Given the description of an element on the screen output the (x, y) to click on. 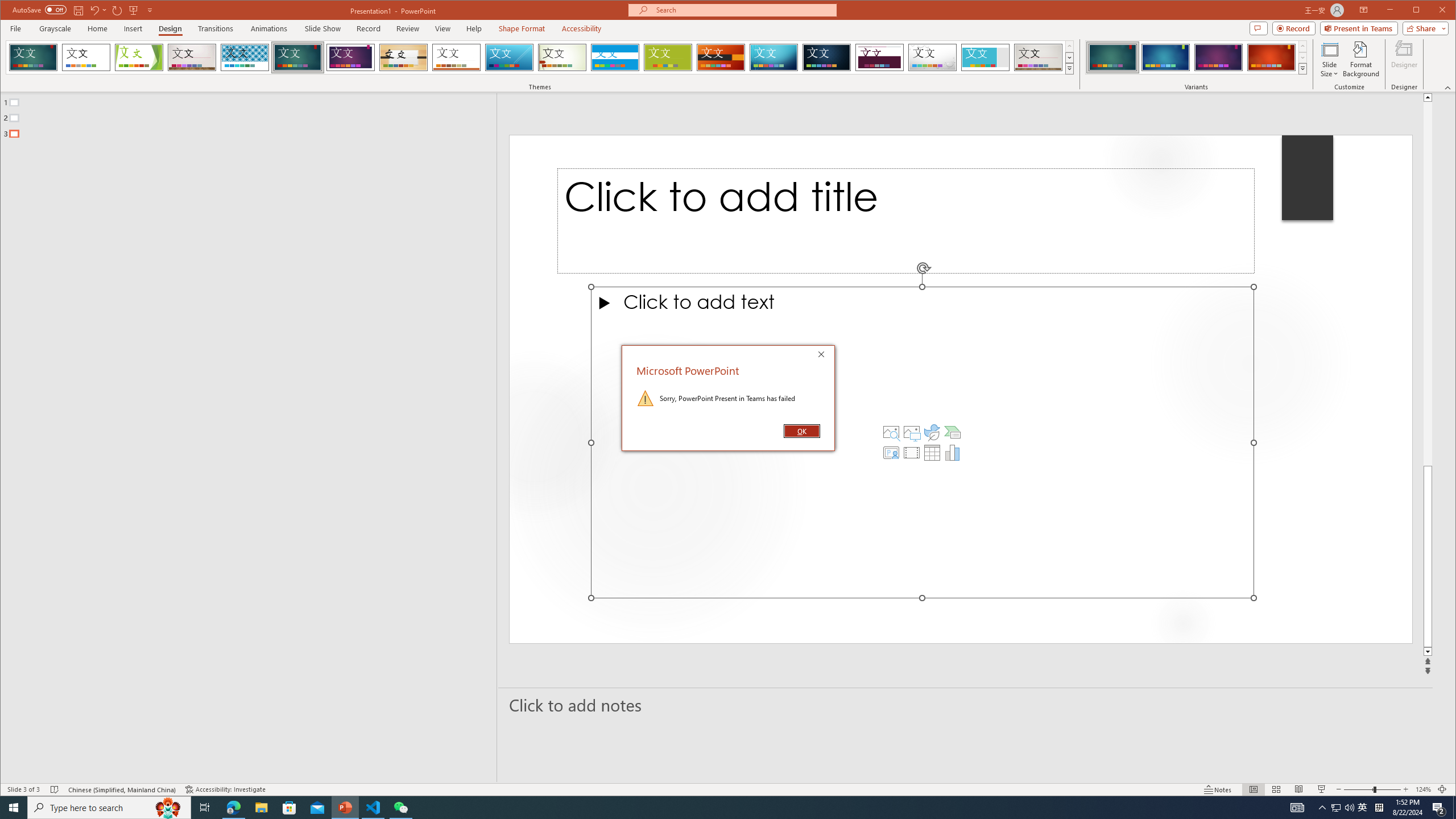
Rectangle (242, 436)
Organic (403, 57)
Running applications (707, 807)
Ion Variant 1 (1112, 57)
Droplet (932, 57)
Outline (252, 115)
